Given the description of an element on the screen output the (x, y) to click on. 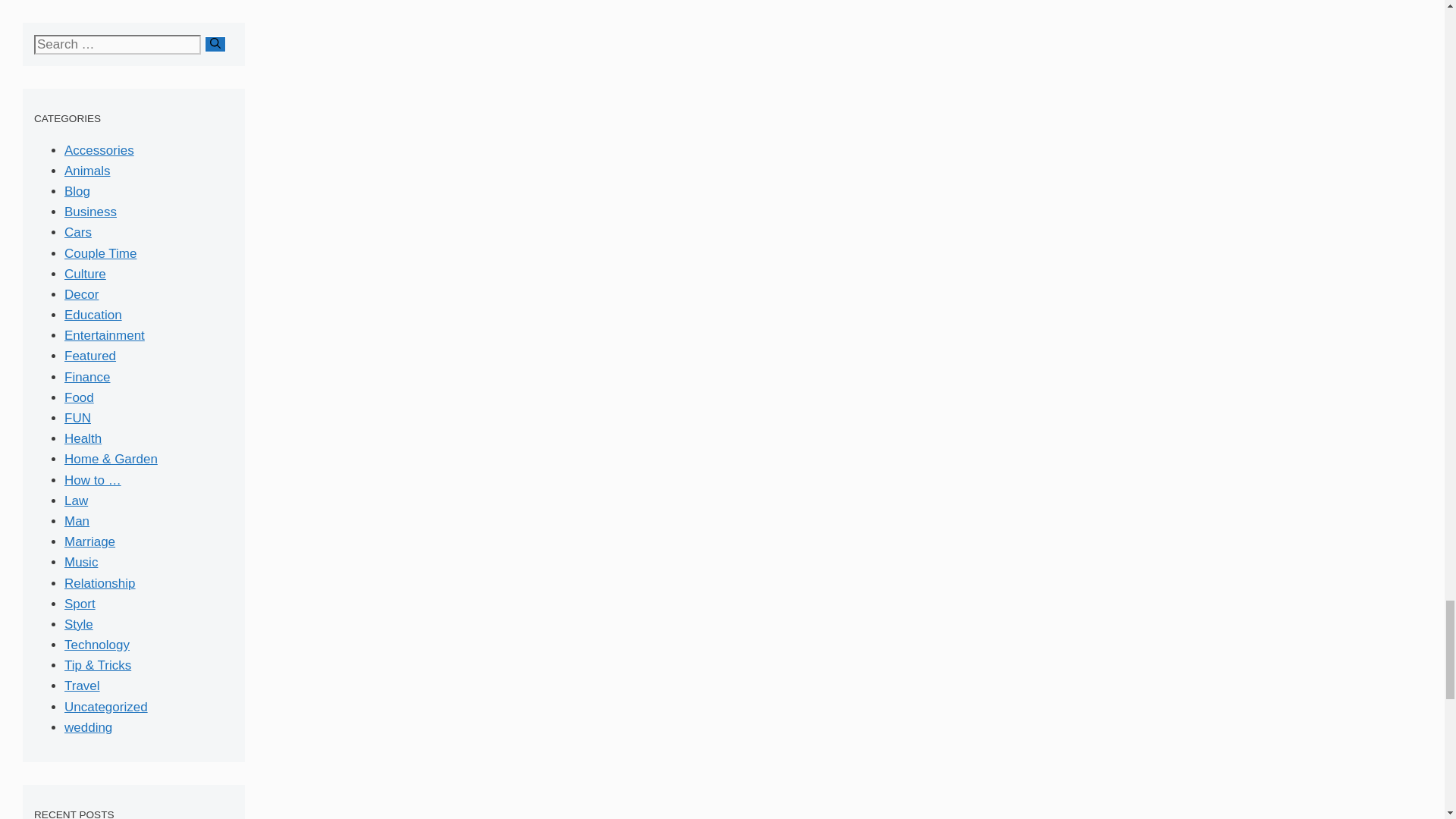
Entertainment (104, 335)
Search for: (116, 44)
Blog (77, 191)
Accessories (98, 150)
Decor (81, 294)
Education (93, 314)
Cars (77, 232)
Business (90, 211)
Animals (87, 170)
Couple Time (100, 253)
